Given the description of an element on the screen output the (x, y) to click on. 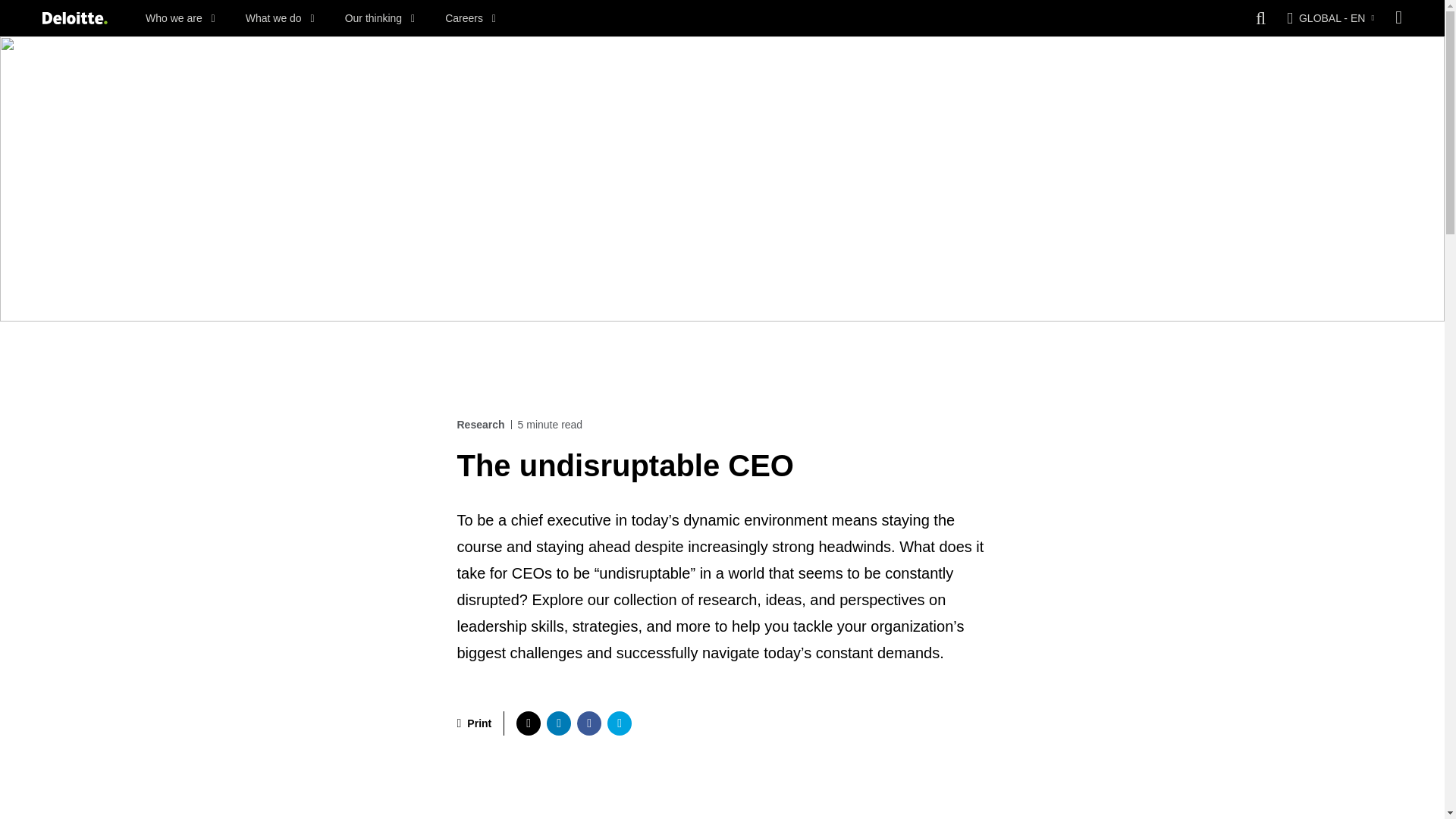
What we do (280, 18)
Deloitte (74, 18)
Print (474, 723)
share via linkedin (558, 723)
Our thinking (379, 18)
share via twitter (528, 723)
Who we are (180, 18)
share via email (619, 723)
share via facebook (588, 723)
Careers (470, 18)
